Given the description of an element on the screen output the (x, y) to click on. 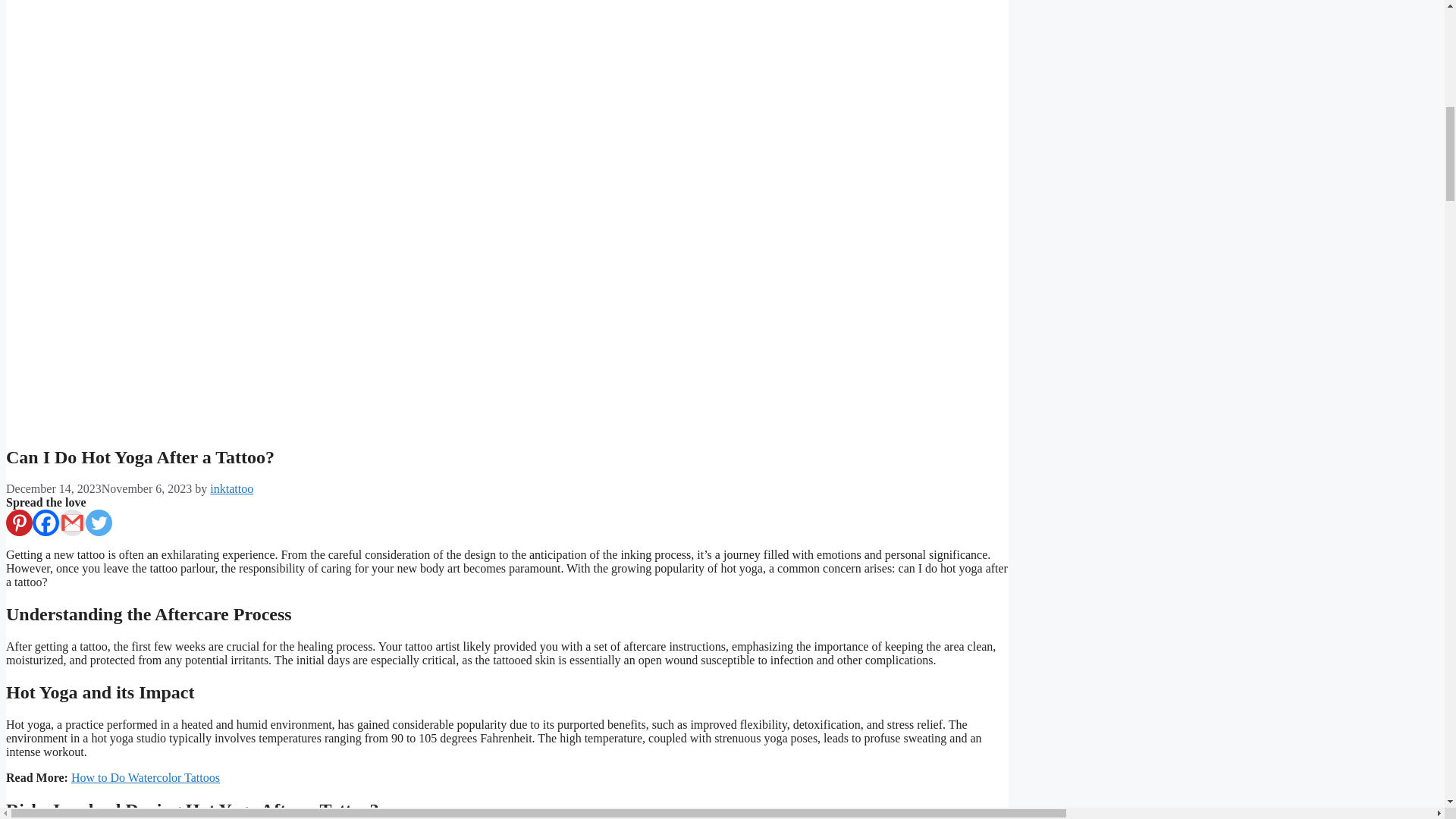
How to Do Watercolor Tattoos (145, 777)
View all posts by inktattoo (231, 488)
inktattoo (231, 488)
Facebook (45, 522)
Twitter (98, 522)
Pinterest (18, 522)
Google Gmail (72, 522)
